Given the description of an element on the screen output the (x, y) to click on. 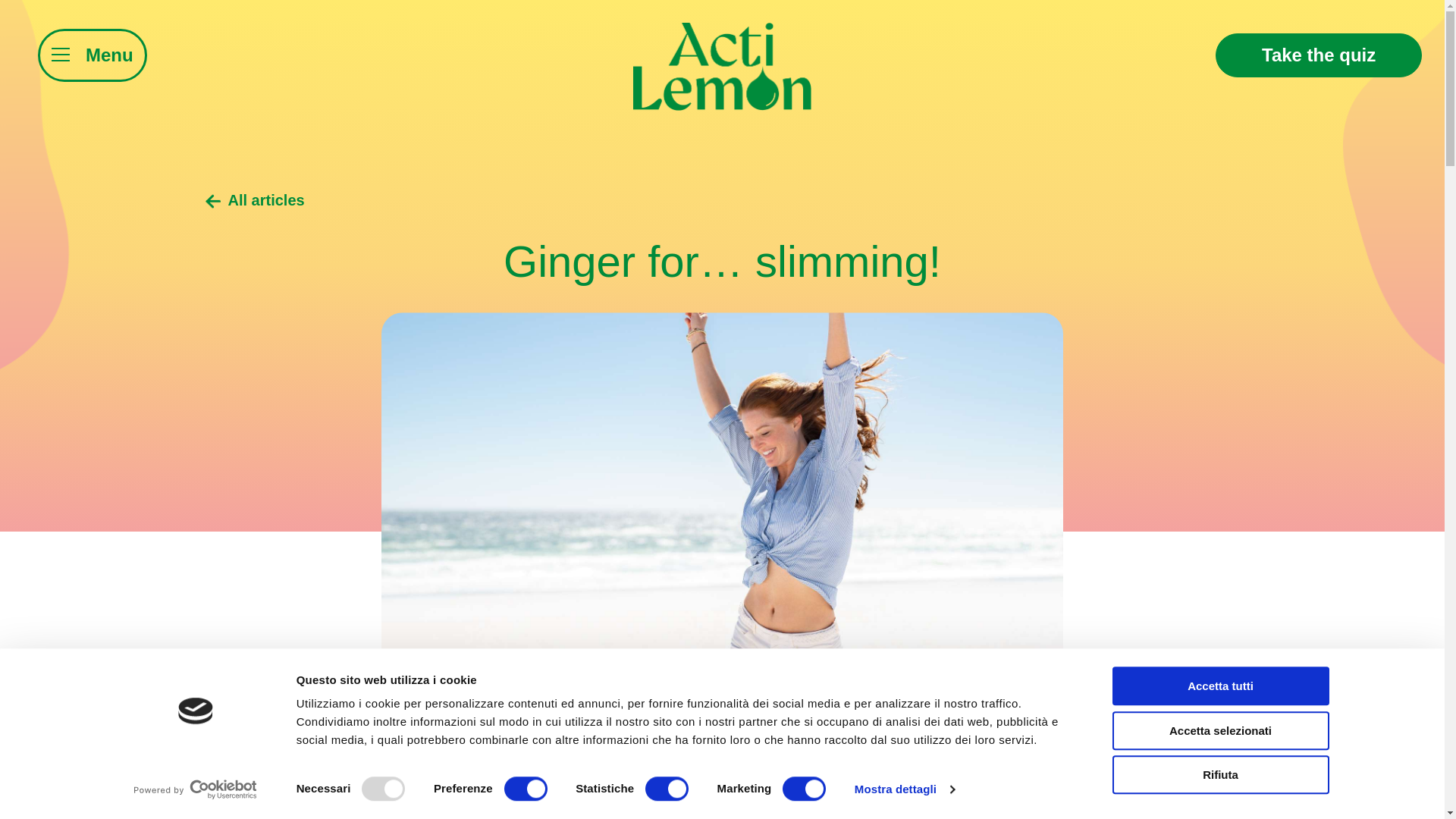
Accetta selezionati (1219, 730)
Rifiuta (1219, 774)
Accetta tutti (1219, 685)
Mostra dettagli (904, 789)
